Given the description of an element on the screen output the (x, y) to click on. 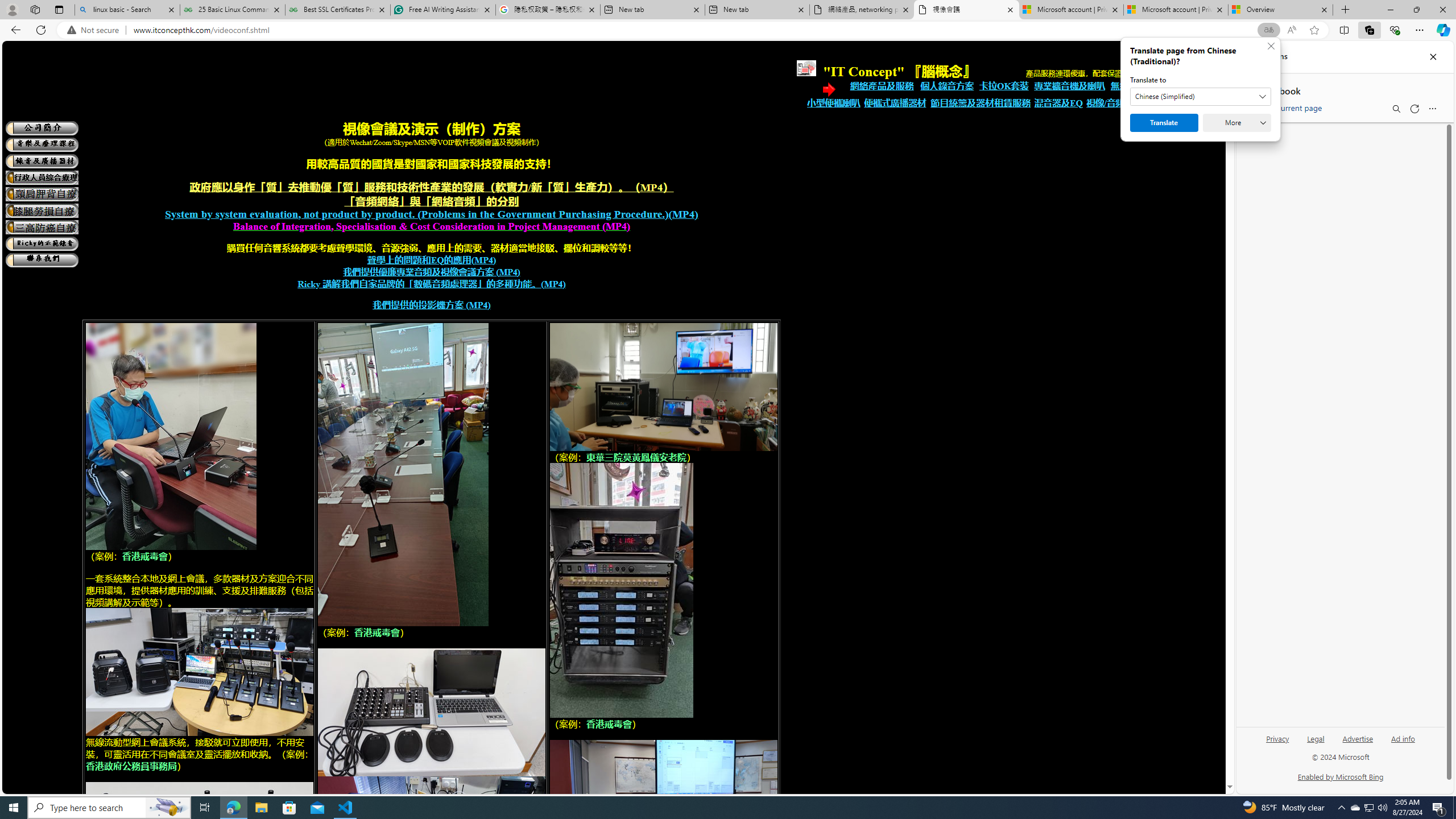
linux basic - Search (126, 9)
Translate (1163, 122)
